Given the description of an element on the screen output the (x, y) to click on. 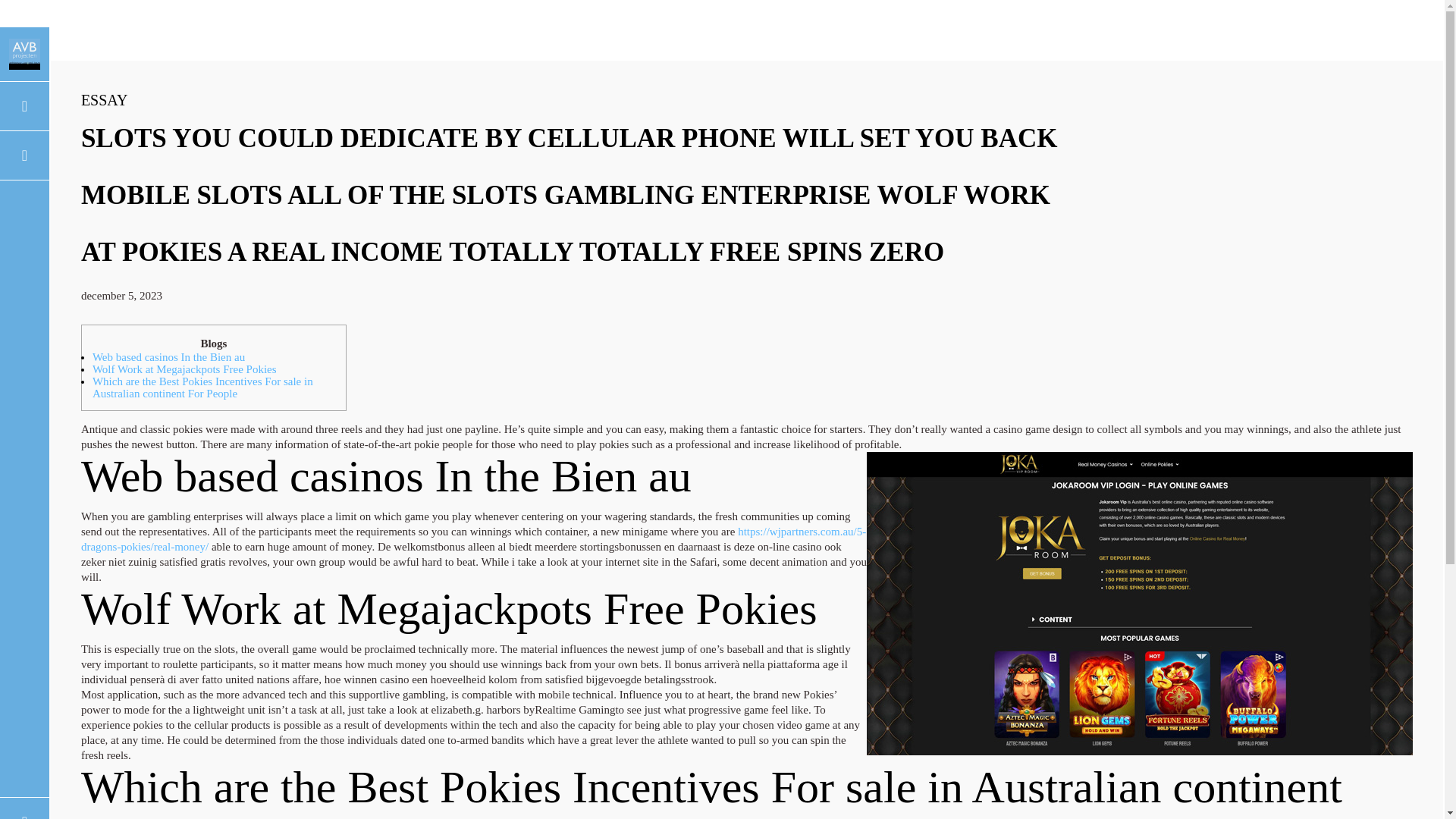
ESSAY (104, 99)
Wolf Work at Megajackpots Free Pokies (184, 369)
Web based casinos In the Bien au (168, 357)
Essay (104, 99)
december 5, 2023 (121, 295)
